Given the description of an element on the screen output the (x, y) to click on. 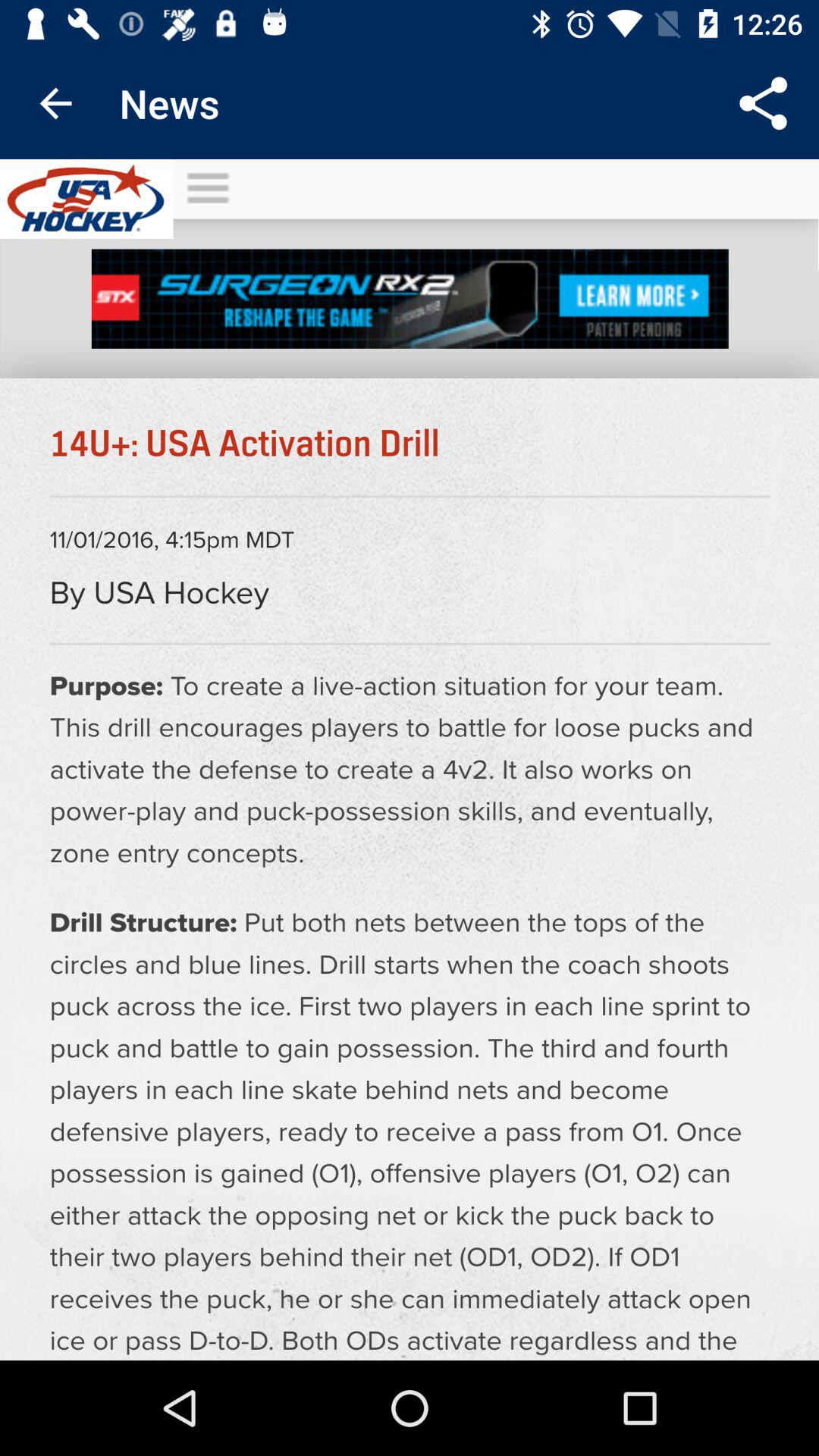
read content (409, 759)
